Given the description of an element on the screen output the (x, y) to click on. 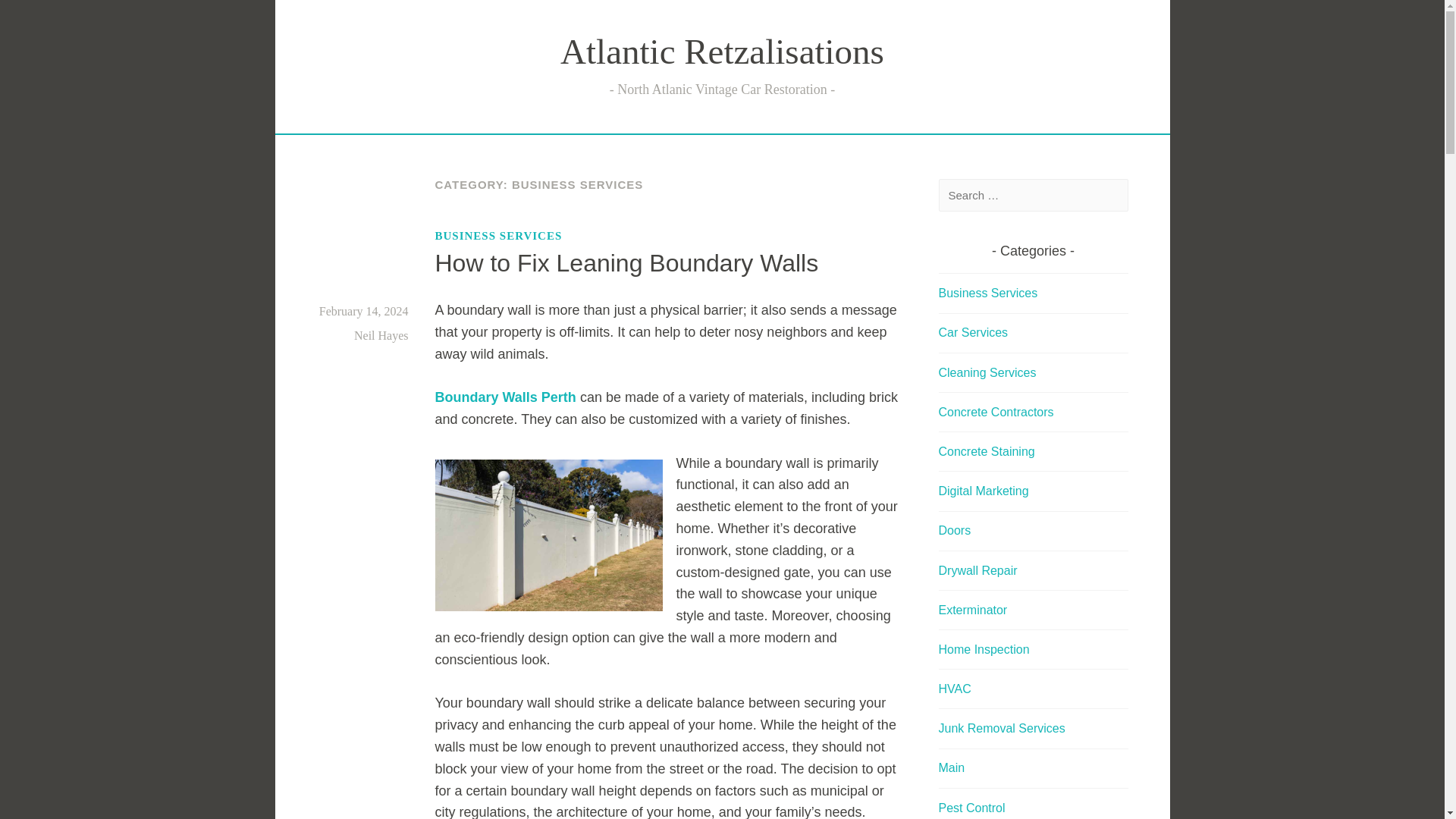
Pest Control (972, 807)
Digital Marketing (984, 490)
Business Services (988, 292)
Home Inspection (984, 649)
Car Services (974, 332)
Search (37, 15)
Drywall Repair (978, 570)
Exterminator (973, 609)
Cleaning Services (987, 372)
HVAC (955, 688)
BUSINESS SERVICES (498, 235)
Neil Hayes (381, 335)
Doors (955, 530)
Atlantic Retzalisations (721, 51)
February 14, 2024 (363, 310)
